Given the description of an element on the screen output the (x, y) to click on. 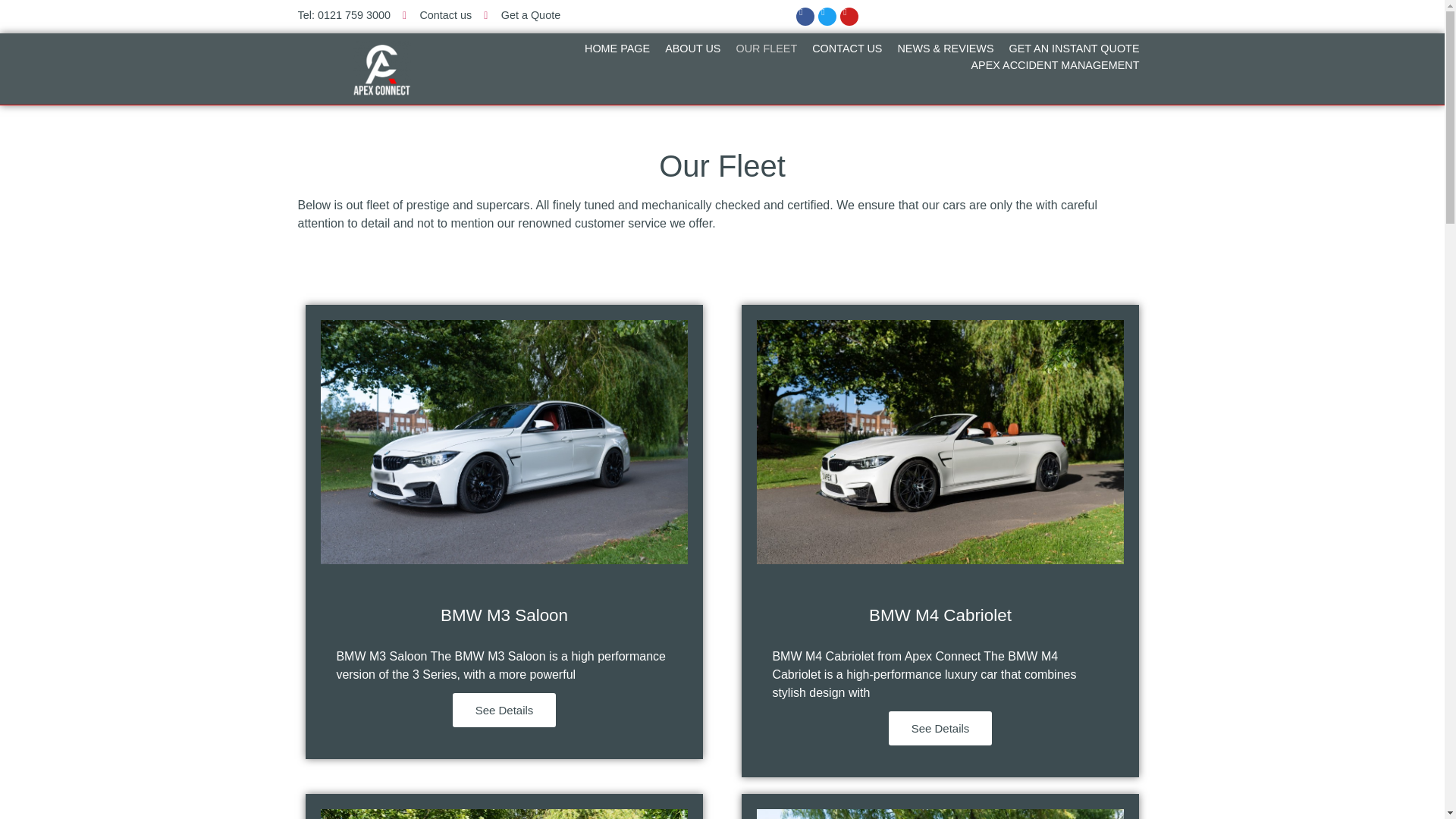
HOME PAGE (617, 48)
Get a Quote (521, 15)
Contact us (437, 15)
GET AN INSTANT QUOTE (1074, 48)
See Details (504, 709)
BMW M3 Saloon (504, 615)
BMW M4 Cabriolet (940, 615)
Tel: 0121 759 3000 (343, 15)
CONTACT US (847, 48)
APEX ACCIDENT MANAGEMENT (1054, 65)
